Given the description of an element on the screen output the (x, y) to click on. 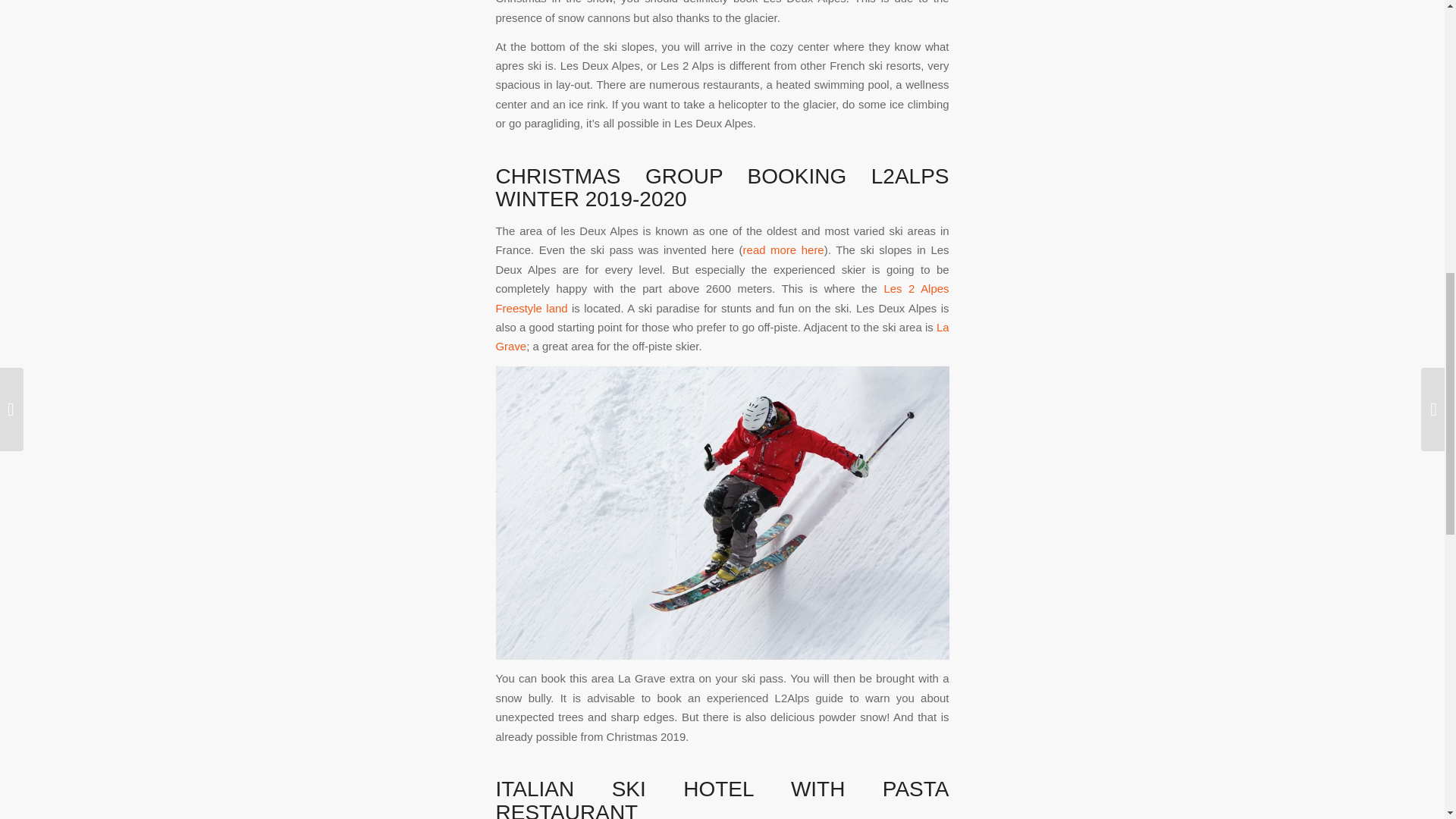
La Grave (722, 336)
Les 2 Alpes Freestyle land (722, 297)
read more here (783, 249)
